Given the description of an element on the screen output the (x, y) to click on. 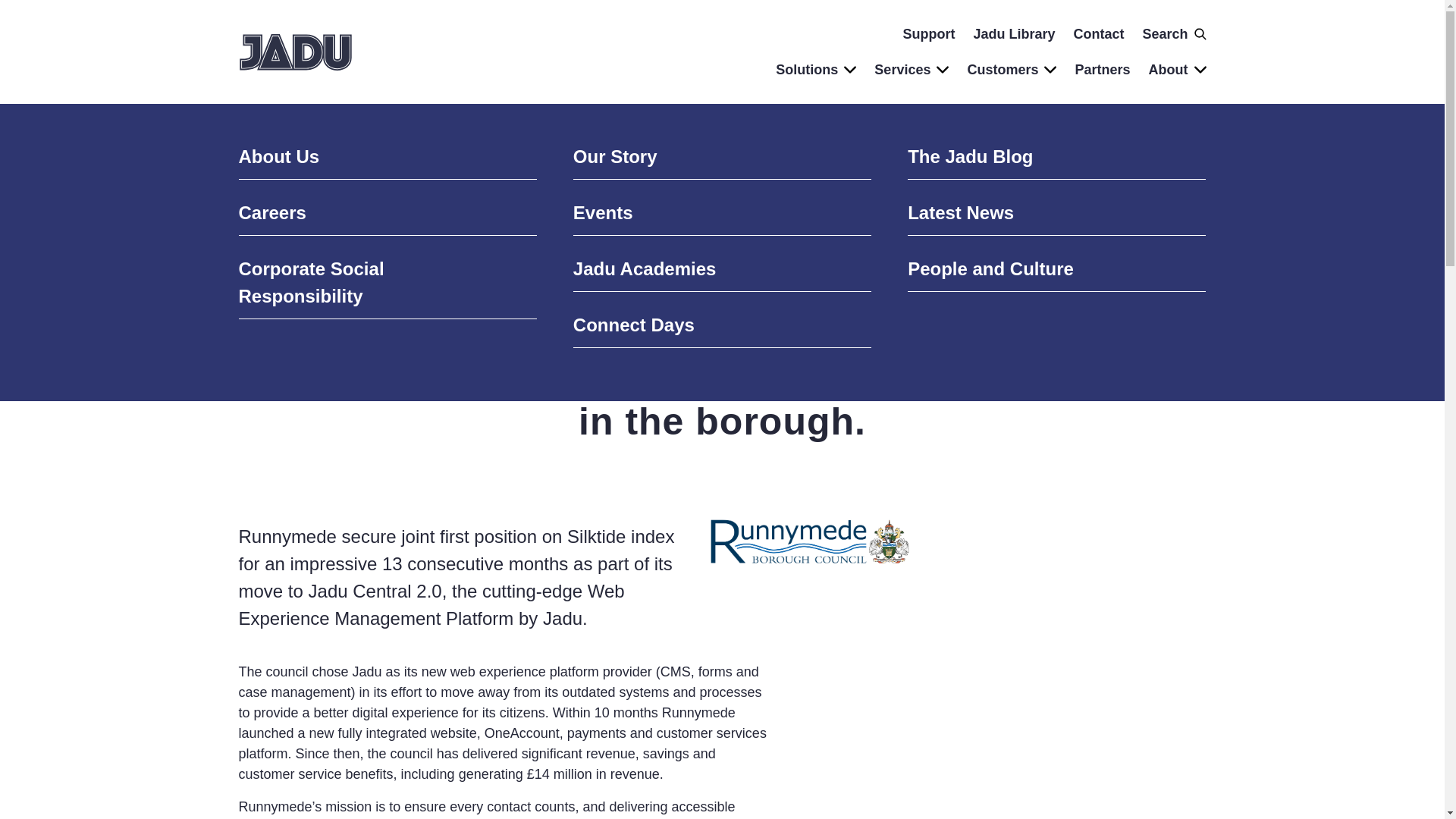
Themes (1056, 161)
Support (721, 273)
Eye Tracking (386, 330)
Jadu Digital Platform (386, 161)
Search (1173, 34)
Customers (1011, 69)
Web Design (1056, 330)
Jadu Central (721, 161)
About (1177, 69)
